Given the description of an element on the screen output the (x, y) to click on. 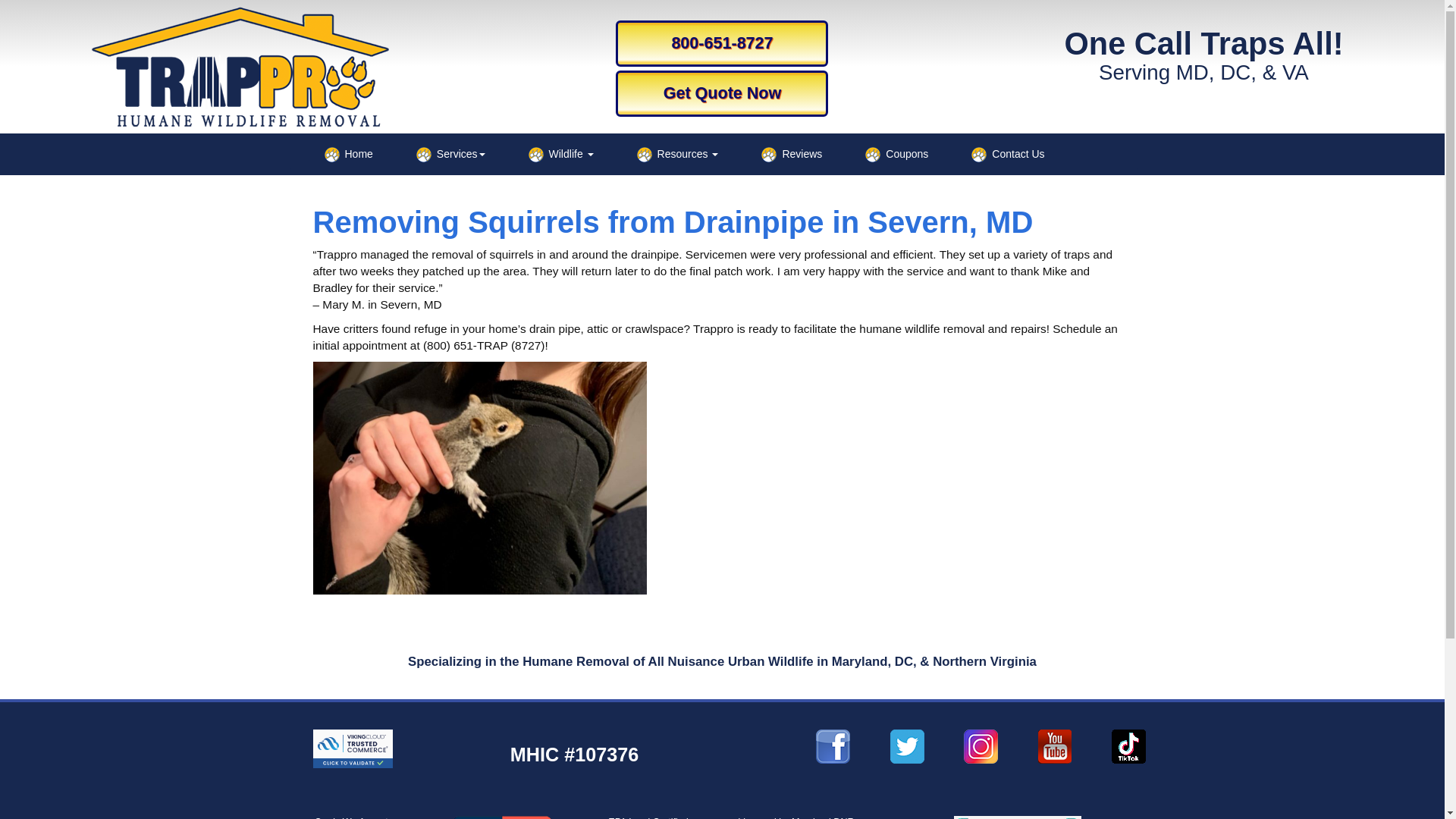
Reviews (791, 154)
Wildlife (560, 154)
Removing Squirrels from Drainpipe in Severn, MD (672, 222)
Home (347, 154)
TikTok (1017, 817)
Resources (676, 154)
800-651-8727 (722, 43)
Get Quote Now (722, 93)
Contact Us (1007, 154)
Services (450, 154)
Coupons (896, 154)
Removing Squirrels from Drainpipe in Severn, MD (672, 222)
